Given the description of an element on the screen output the (x, y) to click on. 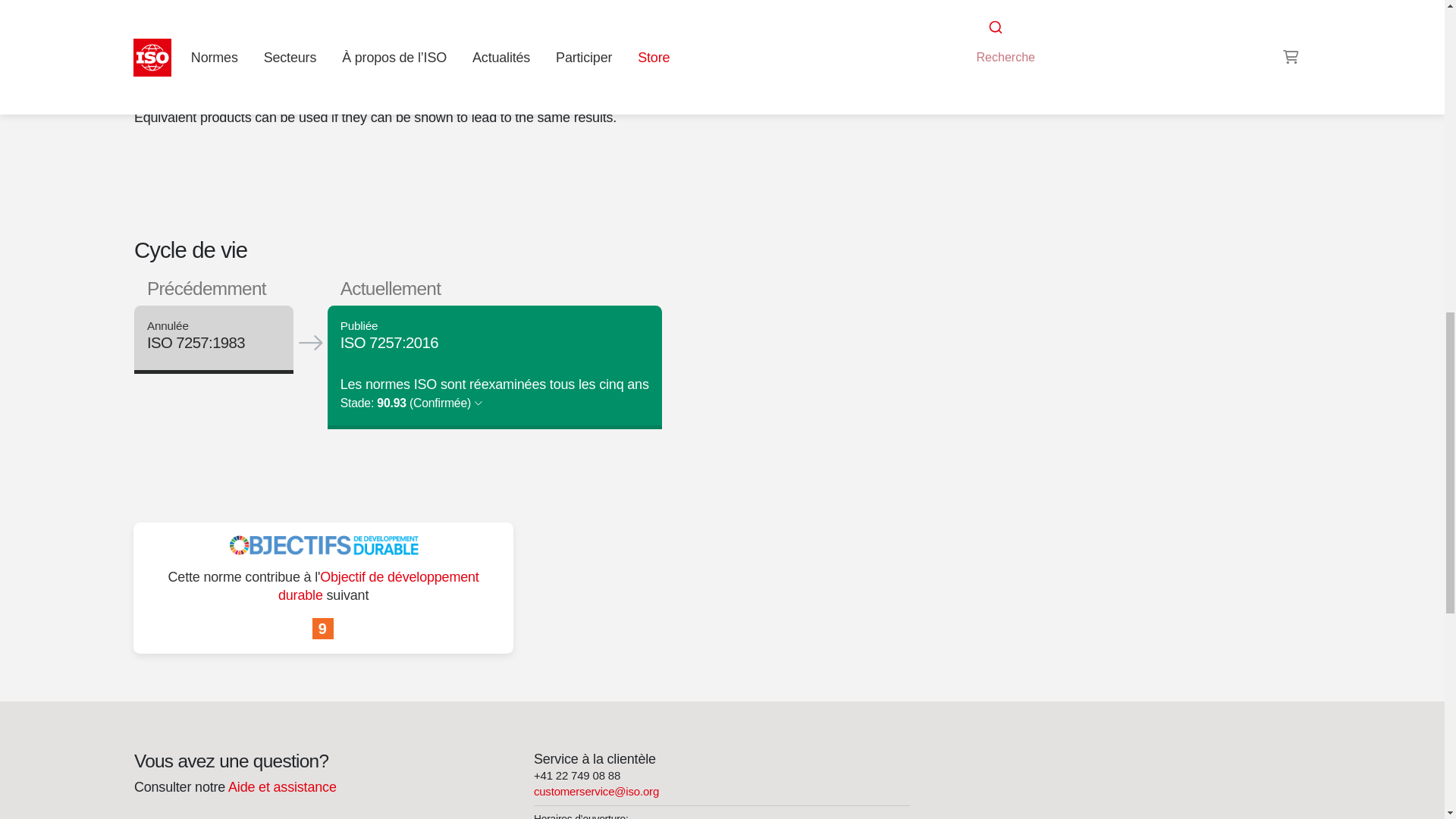
RSS (956, 51)
49.080 (988, 22)
Industrie, innovation et infrastructure (323, 629)
